Given the description of an element on the screen output the (x, y) to click on. 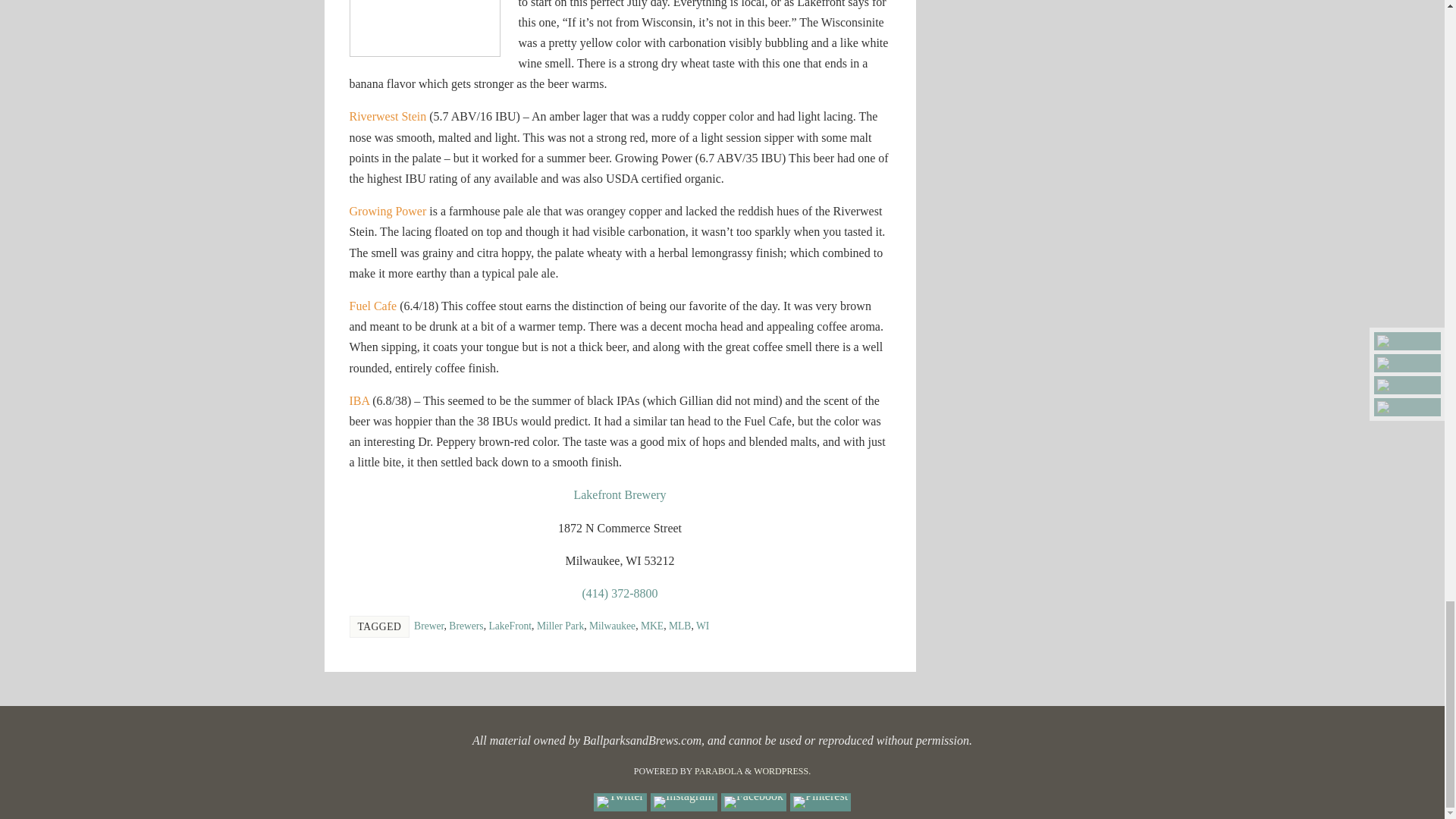
Twitter (620, 802)
Brewer (428, 625)
Call via Hangouts (620, 593)
Semantic Personal Publishing Platform (782, 770)
Lakefront Brewery (619, 494)
Parabola Theme by Cryout Creations (718, 770)
Brewers (465, 625)
